Given the description of an element on the screen output the (x, y) to click on. 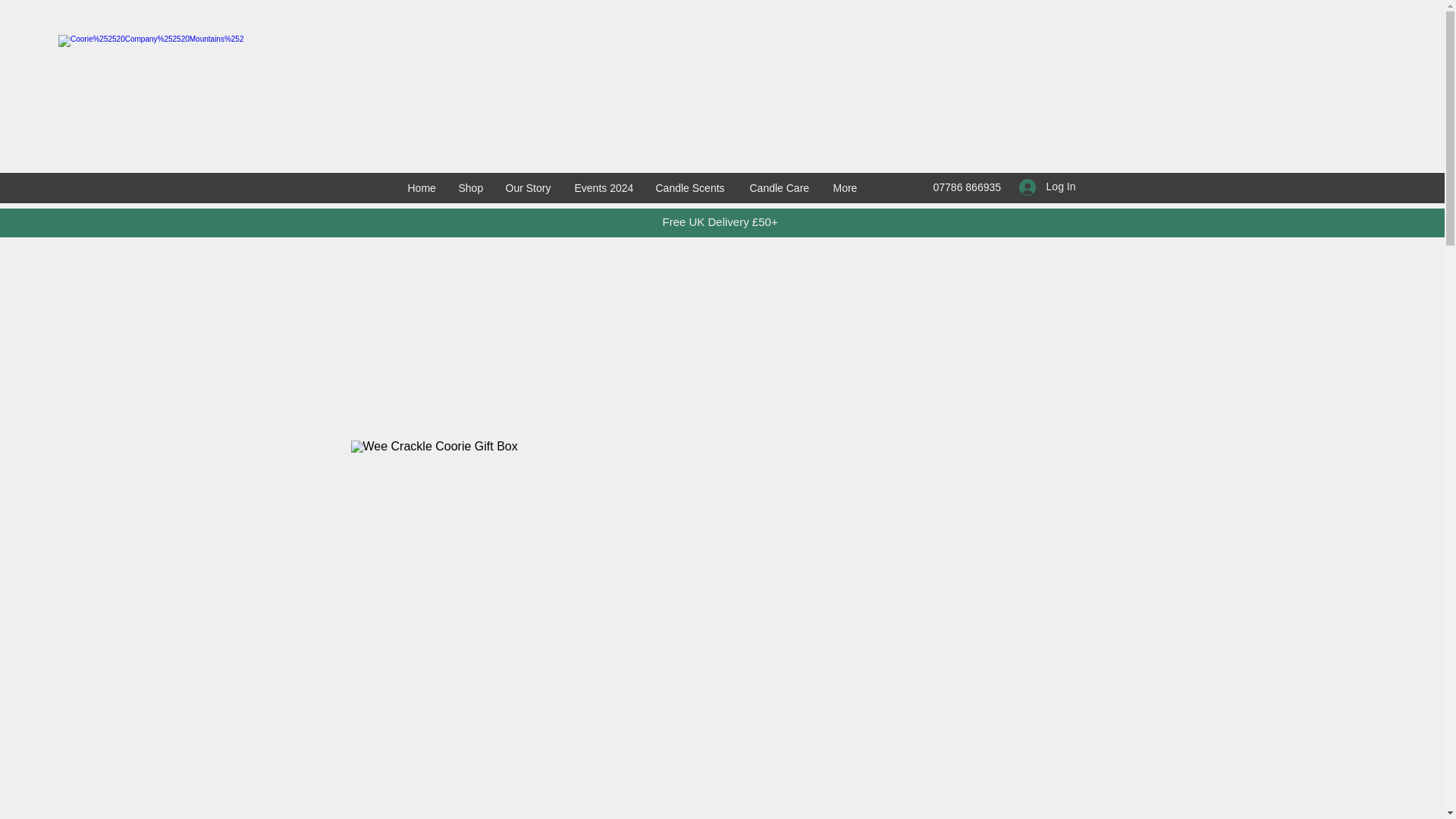
Log In (1047, 186)
Candle Care (783, 187)
Events 2024 (607, 187)
Shop (473, 187)
Candle Scents (694, 187)
Our Story (531, 187)
Home (425, 187)
